Given the description of an element on the screen output the (x, y) to click on. 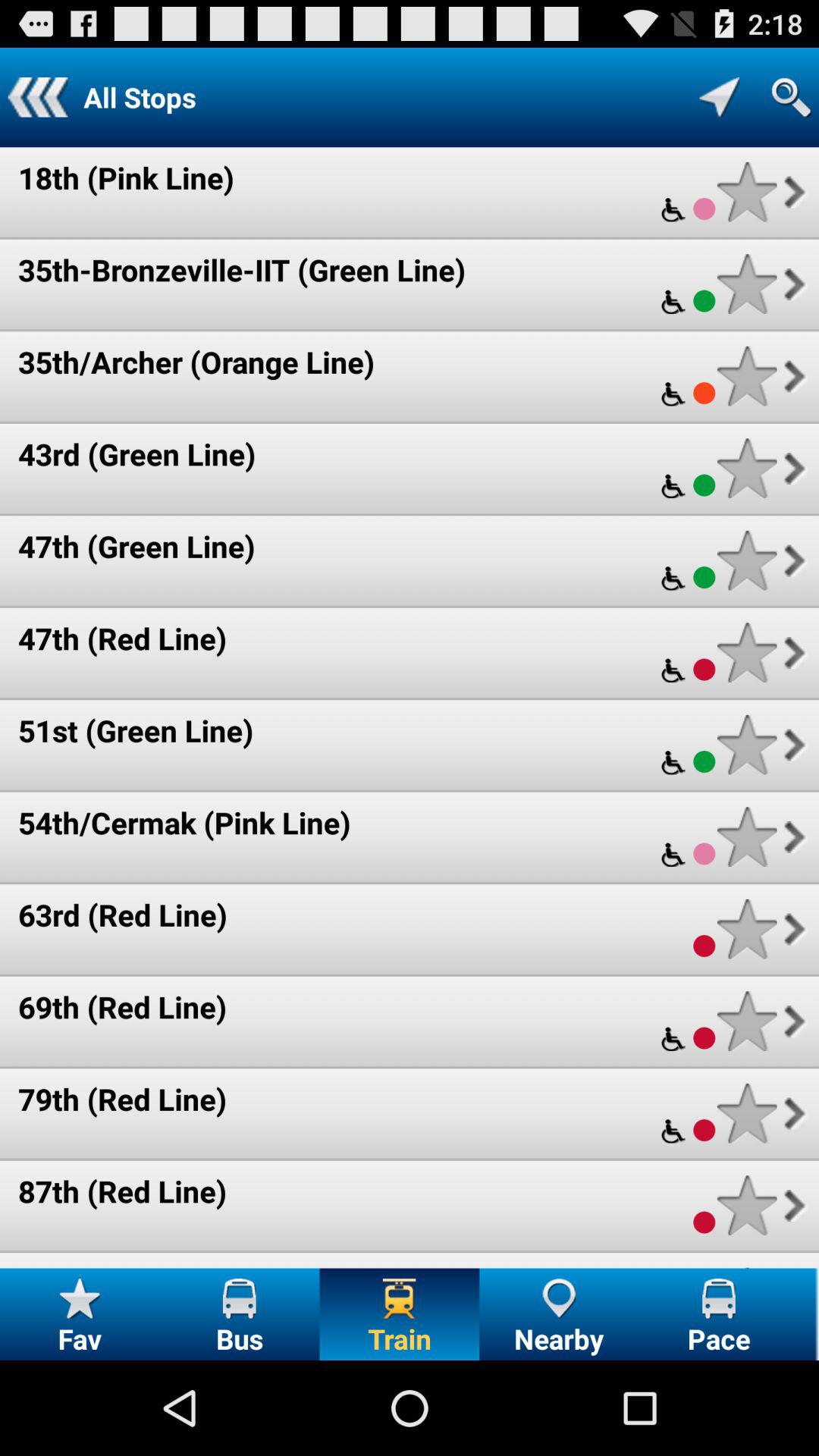
open search bar (791, 97)
